Given the description of an element on the screen output the (x, y) to click on. 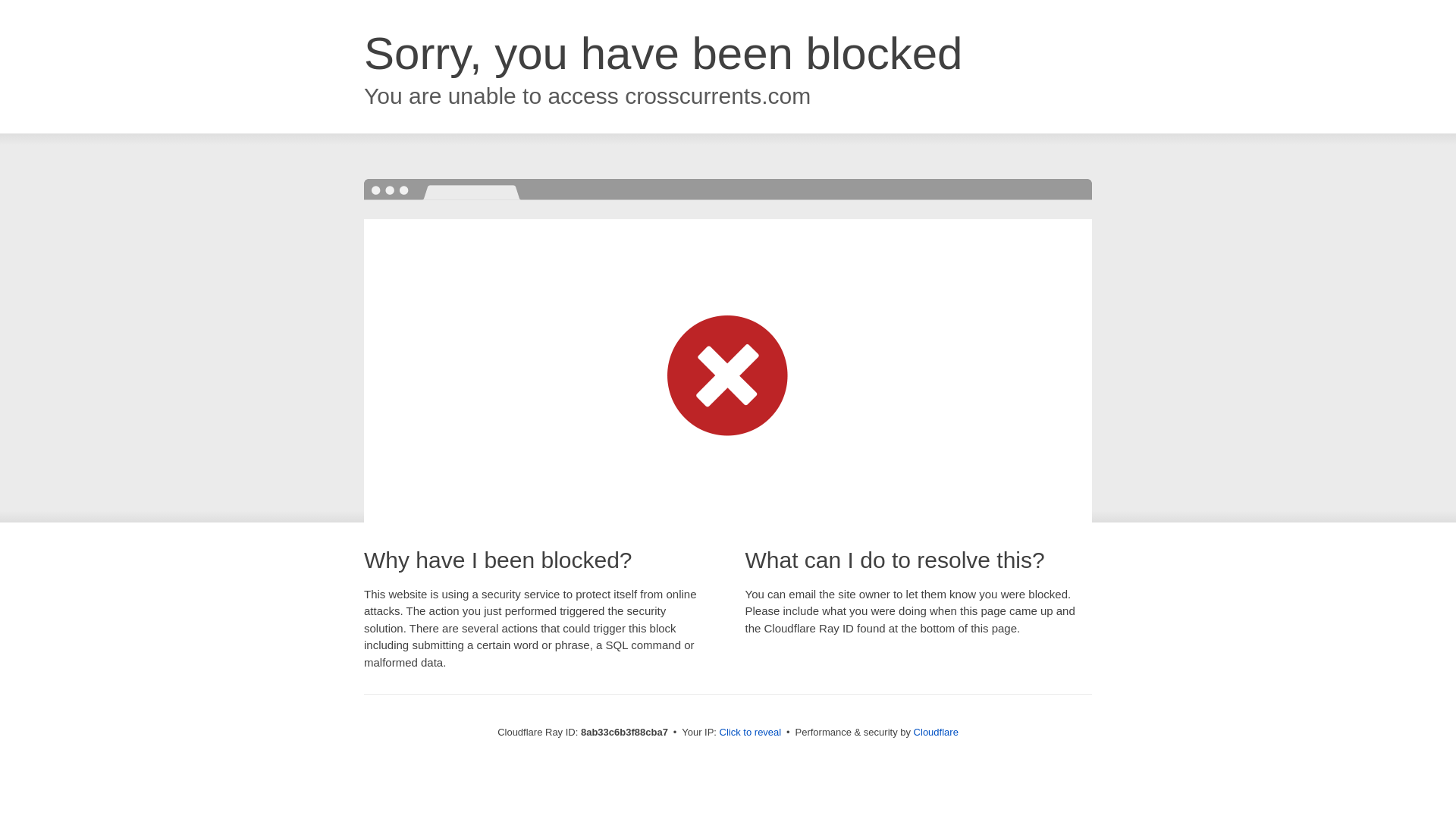
Click to reveal (750, 732)
Cloudflare (936, 731)
